Given the description of an element on the screen output the (x, y) to click on. 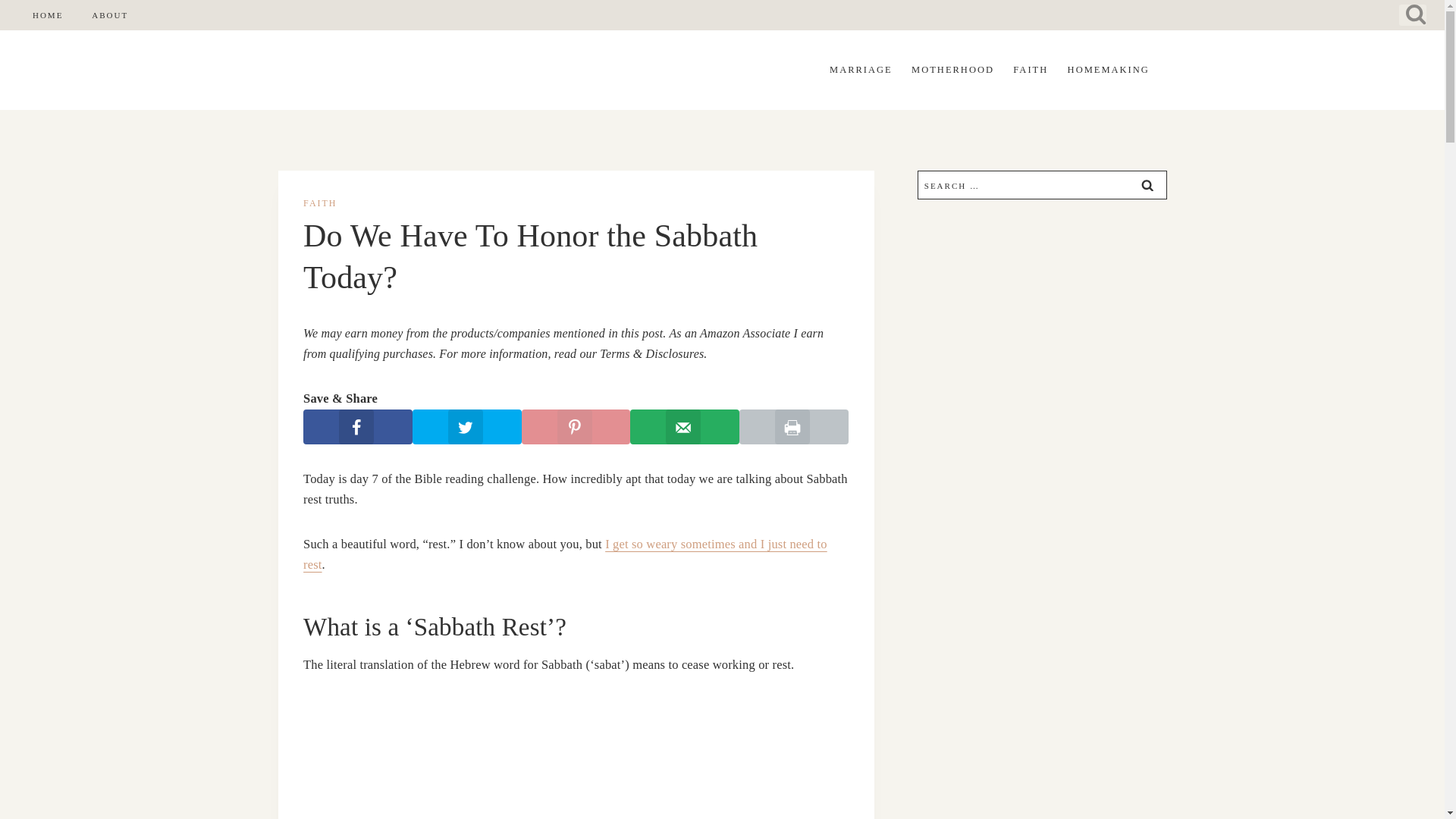
MARRIAGE (860, 70)
HOME (47, 14)
Share on Facebook (357, 426)
Search (1147, 184)
I get so weary sometimes and I just need to rest (564, 554)
MOTHERHOOD (952, 70)
Search (1147, 184)
HOMEMAKING (1108, 70)
Save to Pinterest (575, 426)
Share on Twitter (466, 426)
Print this webpage (793, 426)
Send over email (684, 426)
FAITH (319, 203)
ABOUT (109, 14)
